Given the description of an element on the screen output the (x, y) to click on. 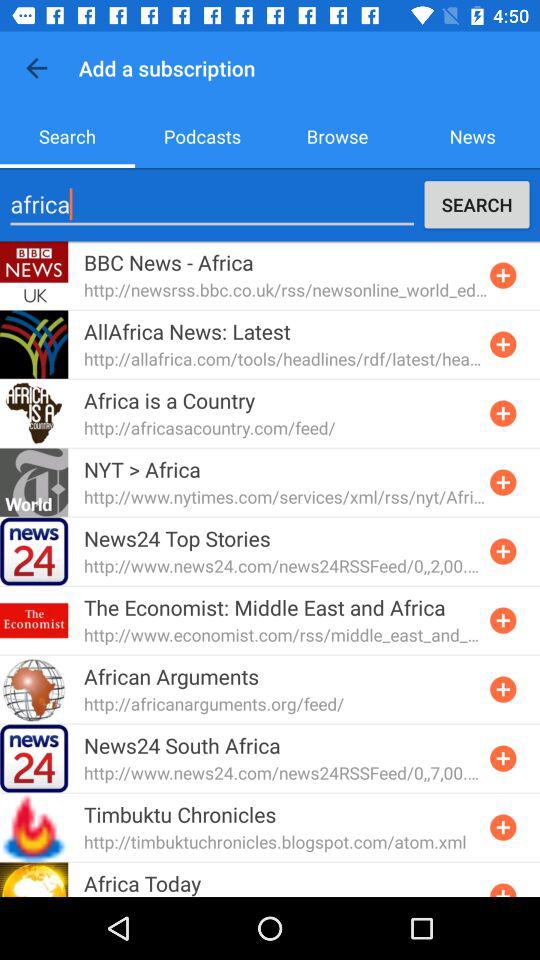
add option (503, 827)
